Given the description of an element on the screen output the (x, y) to click on. 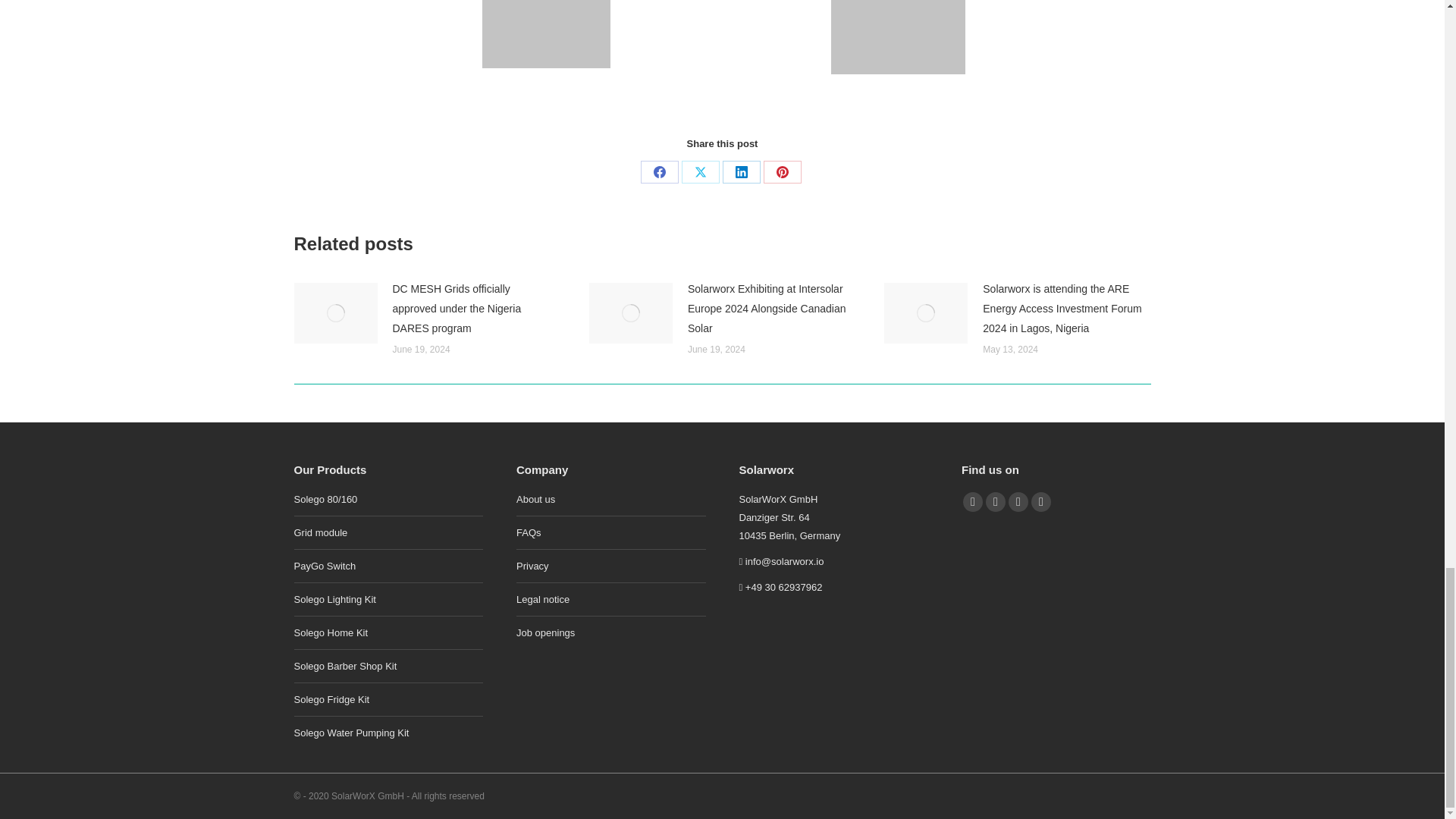
YouTube page opens in new window (995, 501)
EEP-Logo-169x90 (545, 33)
X (700, 171)
Linkedin page opens in new window (1018, 501)
Instagram page opens in new window (1040, 501)
LinkedIn (741, 171)
X page opens in new window (972, 501)
Pinterest (781, 171)
NDF-logo-177 (898, 37)
Facebook (659, 171)
